Given the description of an element on the screen output the (x, y) to click on. 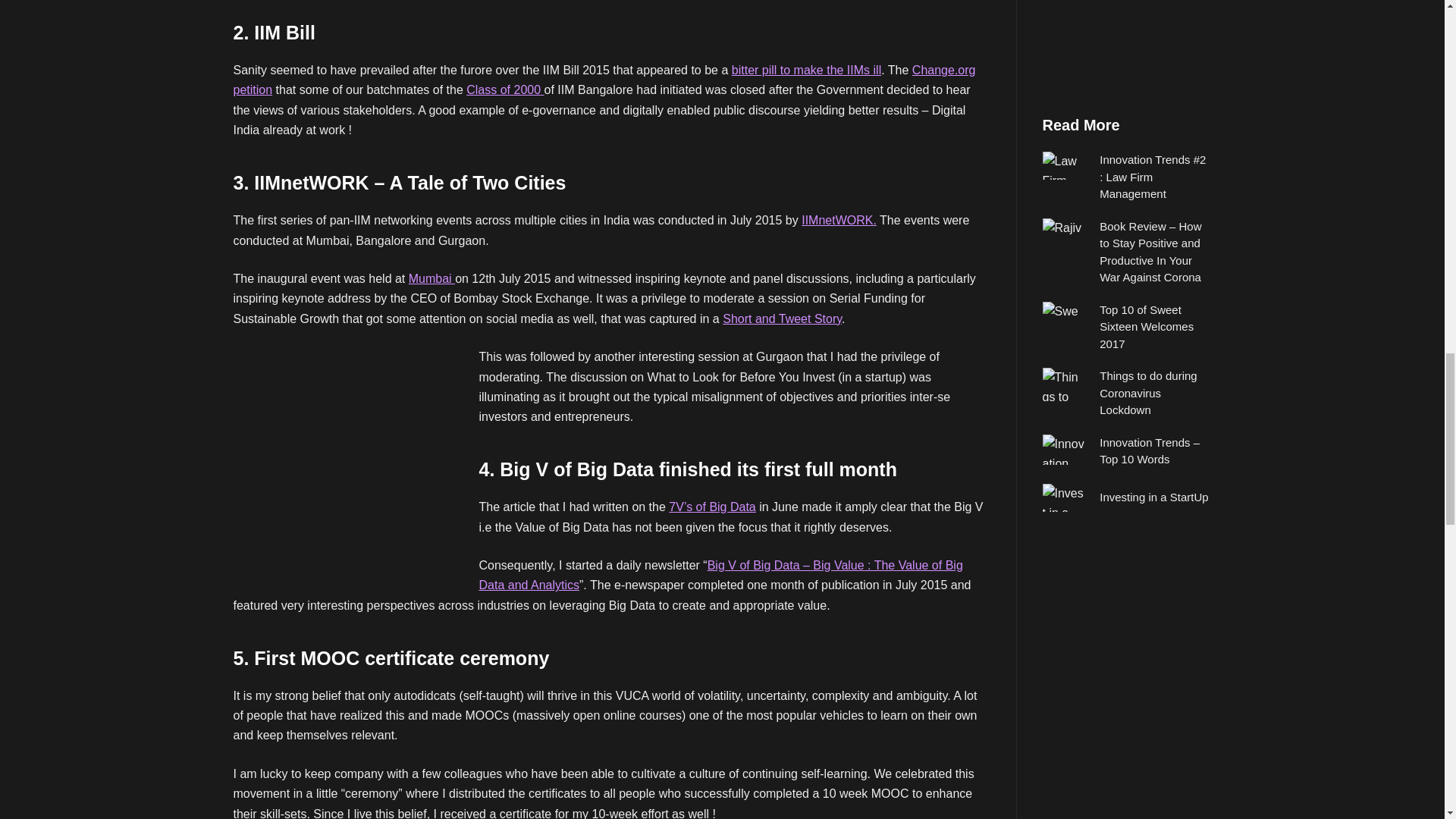
bitter pill to make the IIMs ill (806, 69)
